Given the description of an element on the screen output the (x, y) to click on. 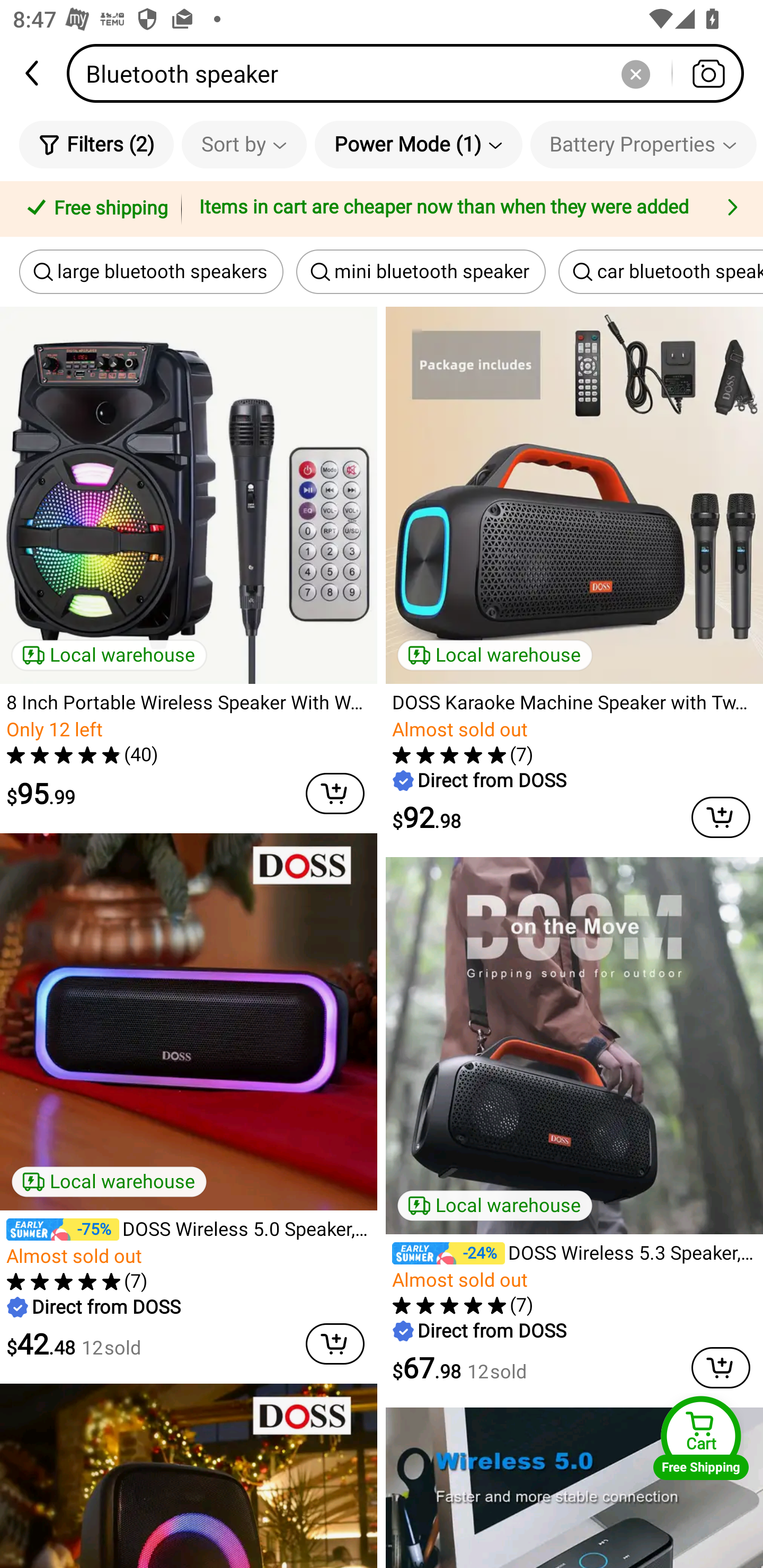
back (33, 72)
Bluetooth speaker (411, 73)
Delete search history (635, 73)
Search by photo (708, 73)
Filters (2) (96, 143)
Sort by (243, 143)
Power Mode (1) (418, 143)
Battery Properties (643, 143)
 Free shipping (93, 208)
large bluetooth speakers (151, 271)
mini bluetooth speaker (420, 271)
car bluetooth speaker (660, 271)
Cart Free Shipping Cart (701, 1437)
